Given the description of an element on the screen output the (x, y) to click on. 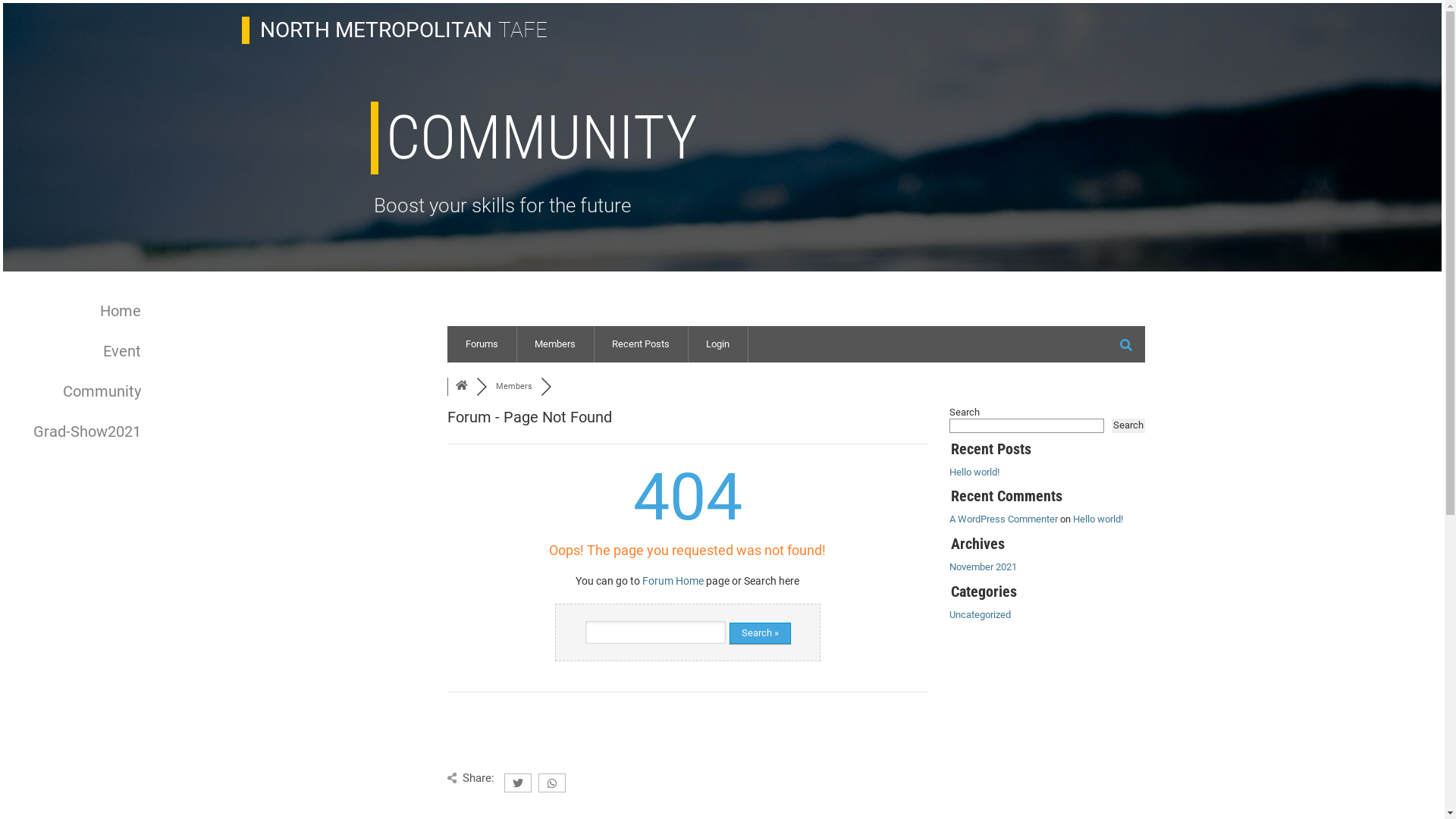
Community Element type: text (78, 391)
Hello world! Element type: text (974, 471)
Members Element type: text (513, 386)
NORTH METROPOLITAN TAFE Element type: text (402, 29)
  Element type: text (543, 382)
Hello world! Element type: text (1098, 518)
Forums Element type: hover (461, 386)
A WordPress Commenter Element type: text (1003, 518)
Event Element type: text (78, 351)
Grad-Show2021 Element type: text (78, 431)
Uncategorized Element type: text (979, 614)
Recent Posts Element type: text (640, 344)
Home Element type: text (78, 310)
Login Element type: text (716, 344)
Search Element type: text (1128, 425)
Forums Element type: text (481, 344)
Forum Home Element type: text (672, 580)
November 2021 Element type: text (982, 566)
Members Element type: text (554, 344)
